Given the description of an element on the screen output the (x, y) to click on. 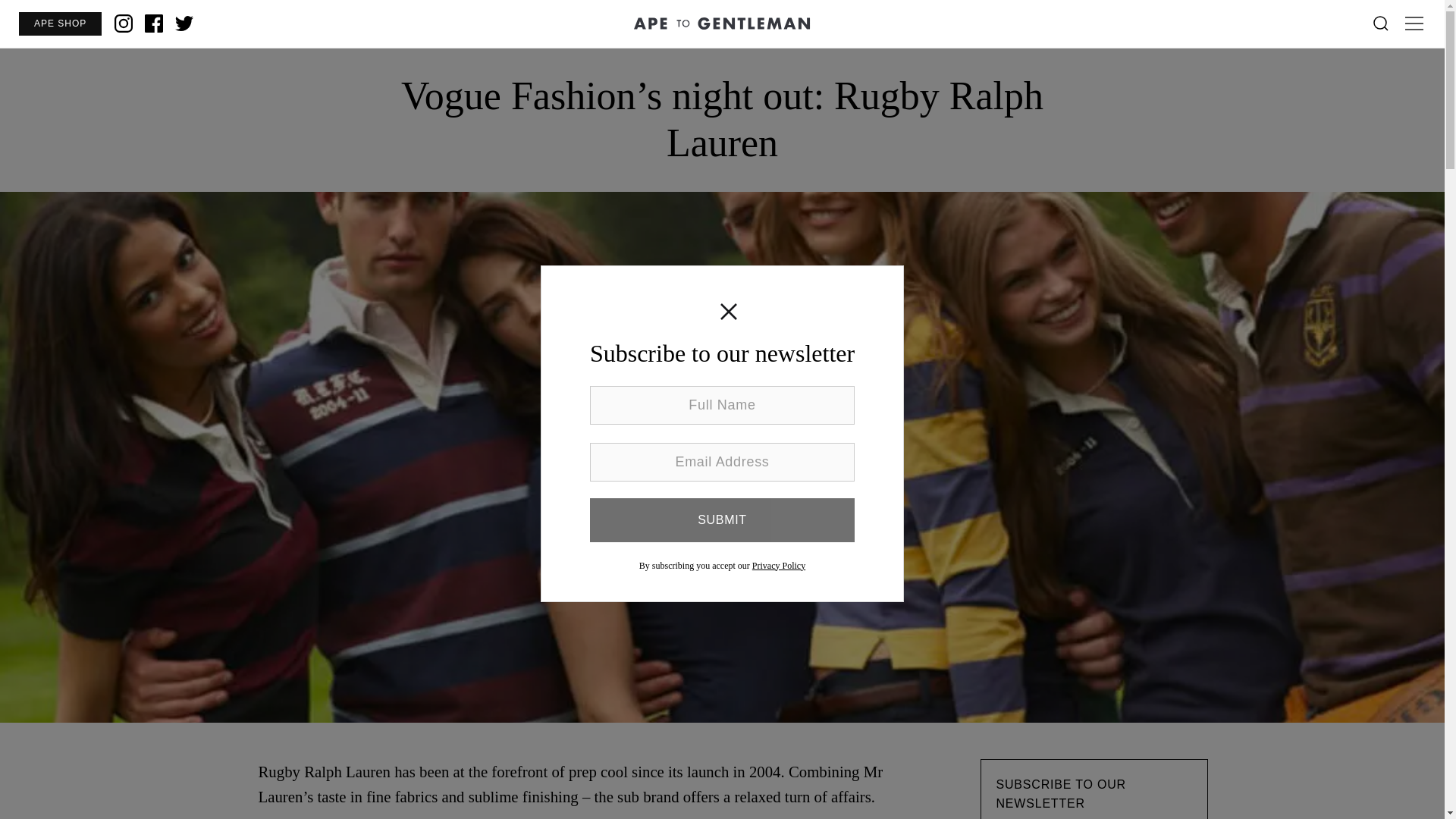
Submit (721, 519)
APE SHOP (59, 23)
Submit (721, 519)
Search (1380, 23)
Instagram (123, 23)
Facebook (153, 23)
Twitter (183, 23)
Visit Ape's Shop (59, 23)
Menu (1414, 23)
Privacy Policy (778, 565)
